Given the description of an element on the screen output the (x, y) to click on. 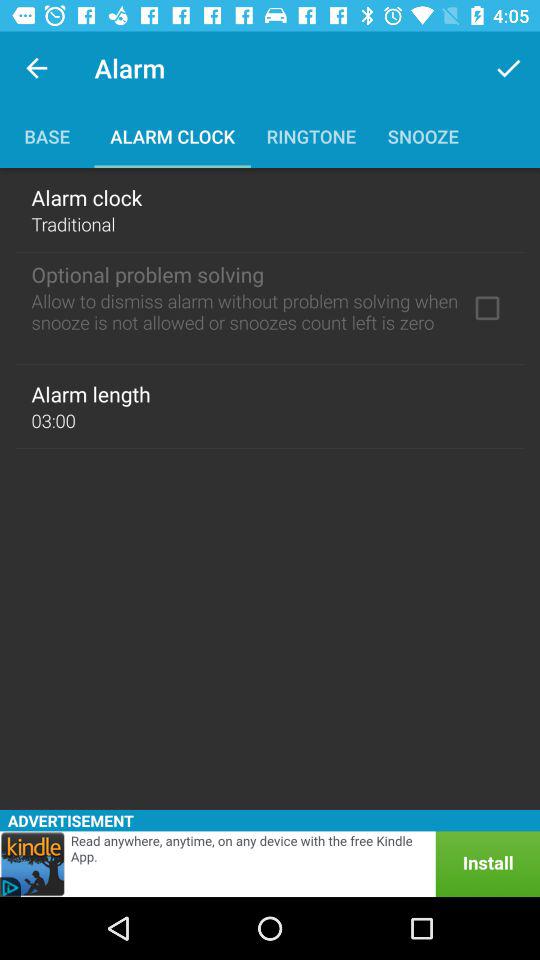
install kindle app (270, 864)
